Given the description of an element on the screen output the (x, y) to click on. 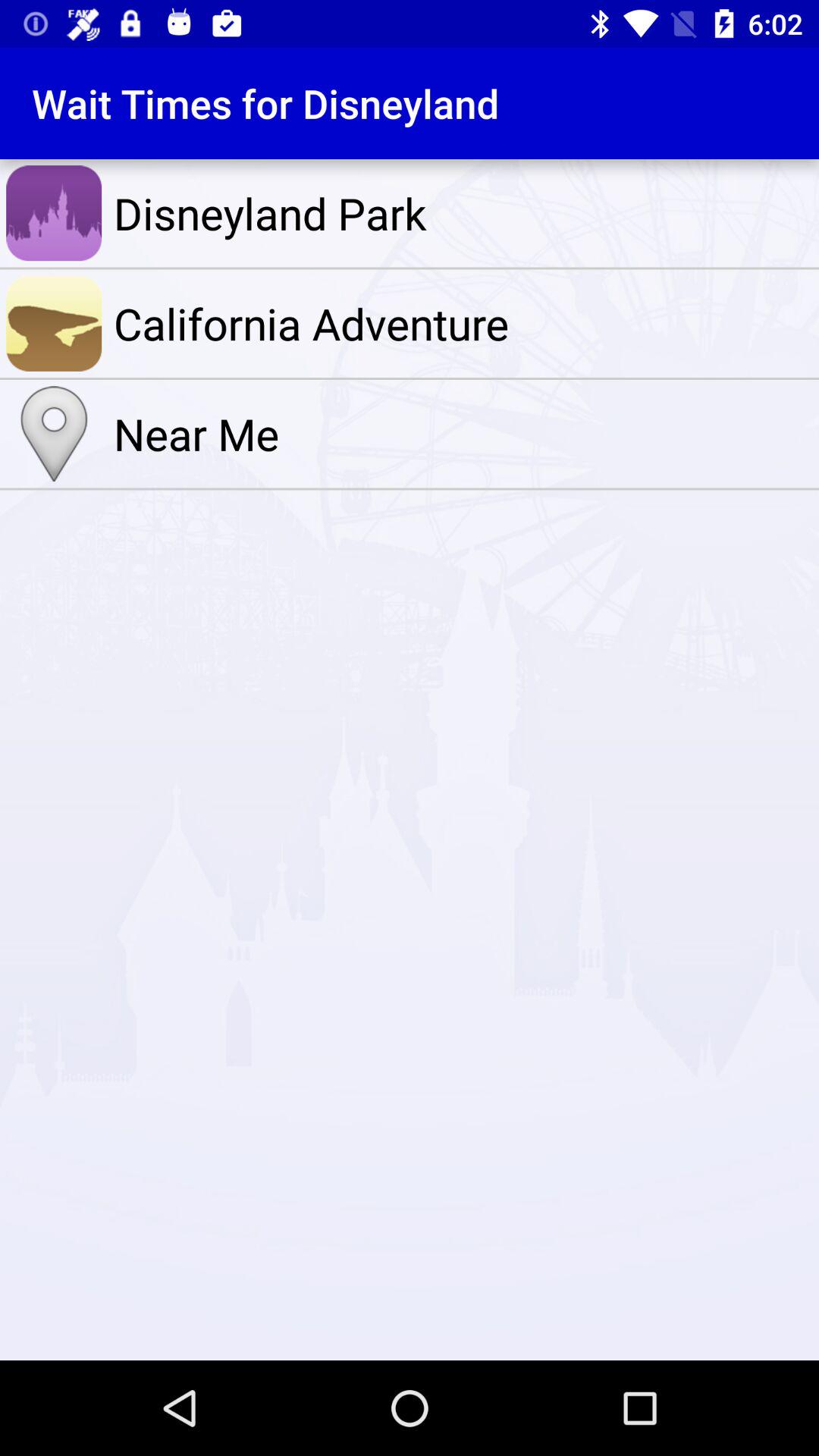
launch item below the disneyland park (462, 323)
